Given the description of an element on the screen output the (x, y) to click on. 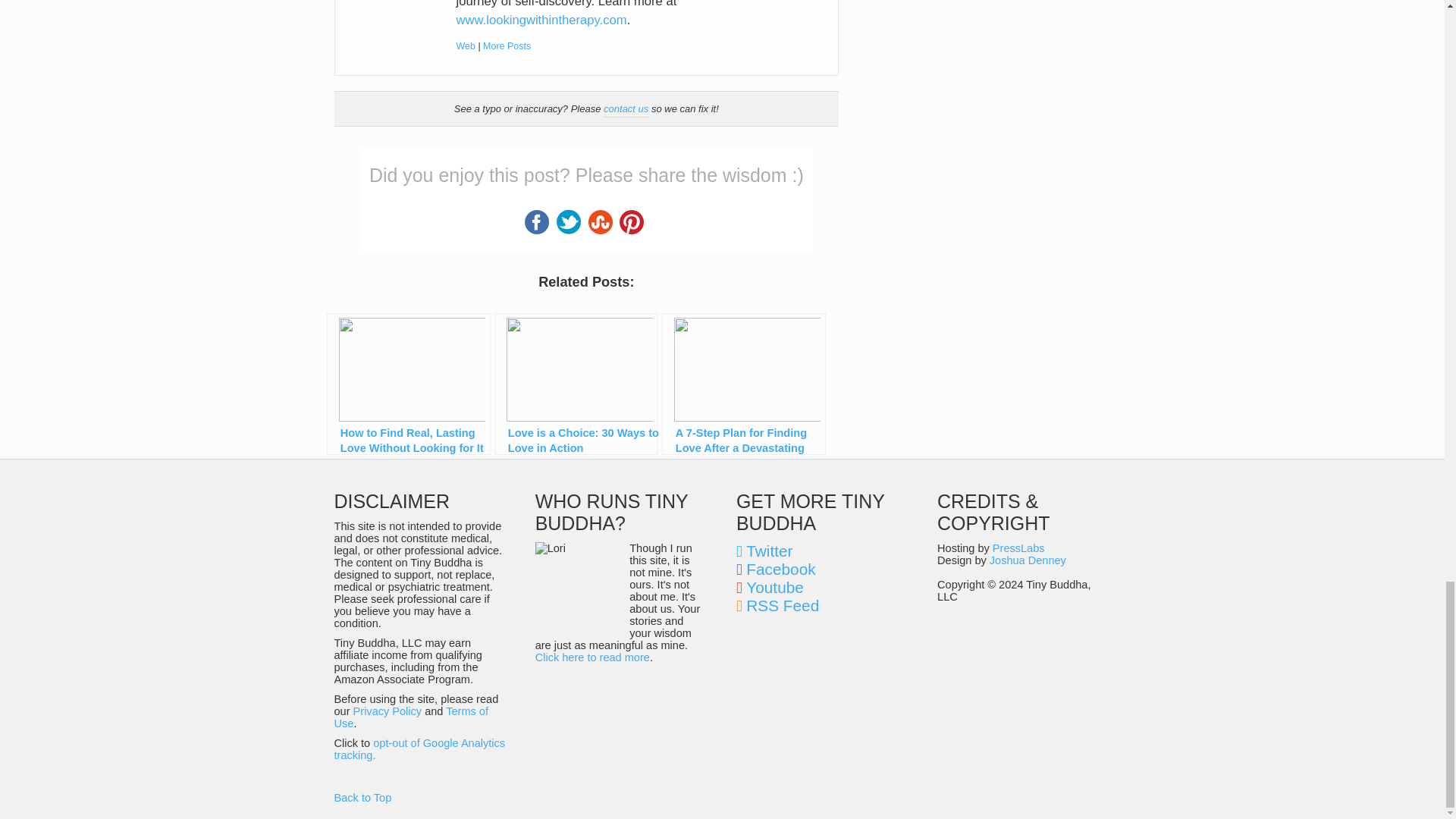
Facebook (537, 221)
Sheila Prakash On The Web (466, 45)
More Posts By Sheila Prakash (507, 45)
